Given the description of an element on the screen output the (x, y) to click on. 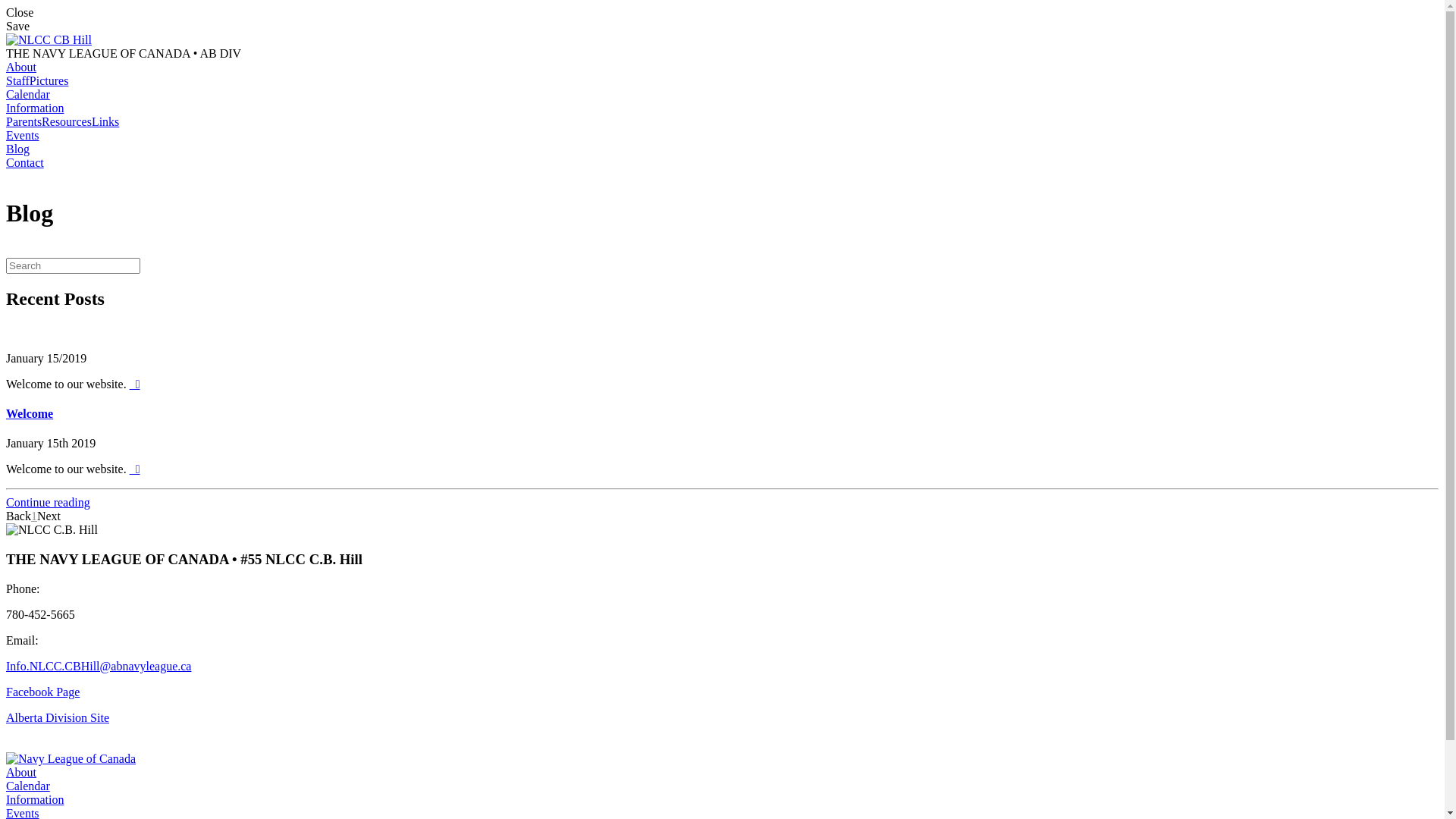
Continue reading Element type: text (48, 501)
Resources Element type: text (66, 121)
Staff Element type: text (17, 80)
Welcome Element type: text (29, 413)
About Element type: text (21, 771)
Contact Element type: text (24, 162)
Facebook Page Element type: text (42, 691)
Close Element type: text (722, 12)
Info.NLCC.CBHill@abnavyleague.ca Element type: text (98, 665)
Navy League of Canada Element type: hover (70, 758)
Information Element type: text (34, 799)
Parents Element type: text (23, 121)
Pictures Element type: text (49, 80)
Information Element type: text (34, 107)
Calendar Element type: text (28, 93)
Events Element type: text (22, 134)
About Element type: text (21, 66)
Links Element type: text (105, 121)
1 Element type: text (34, 515)
Calendar Element type: text (28, 785)
Blog Element type: text (17, 148)
Alberta Division Site Element type: text (57, 717)
